Given the description of an element on the screen output the (x, y) to click on. 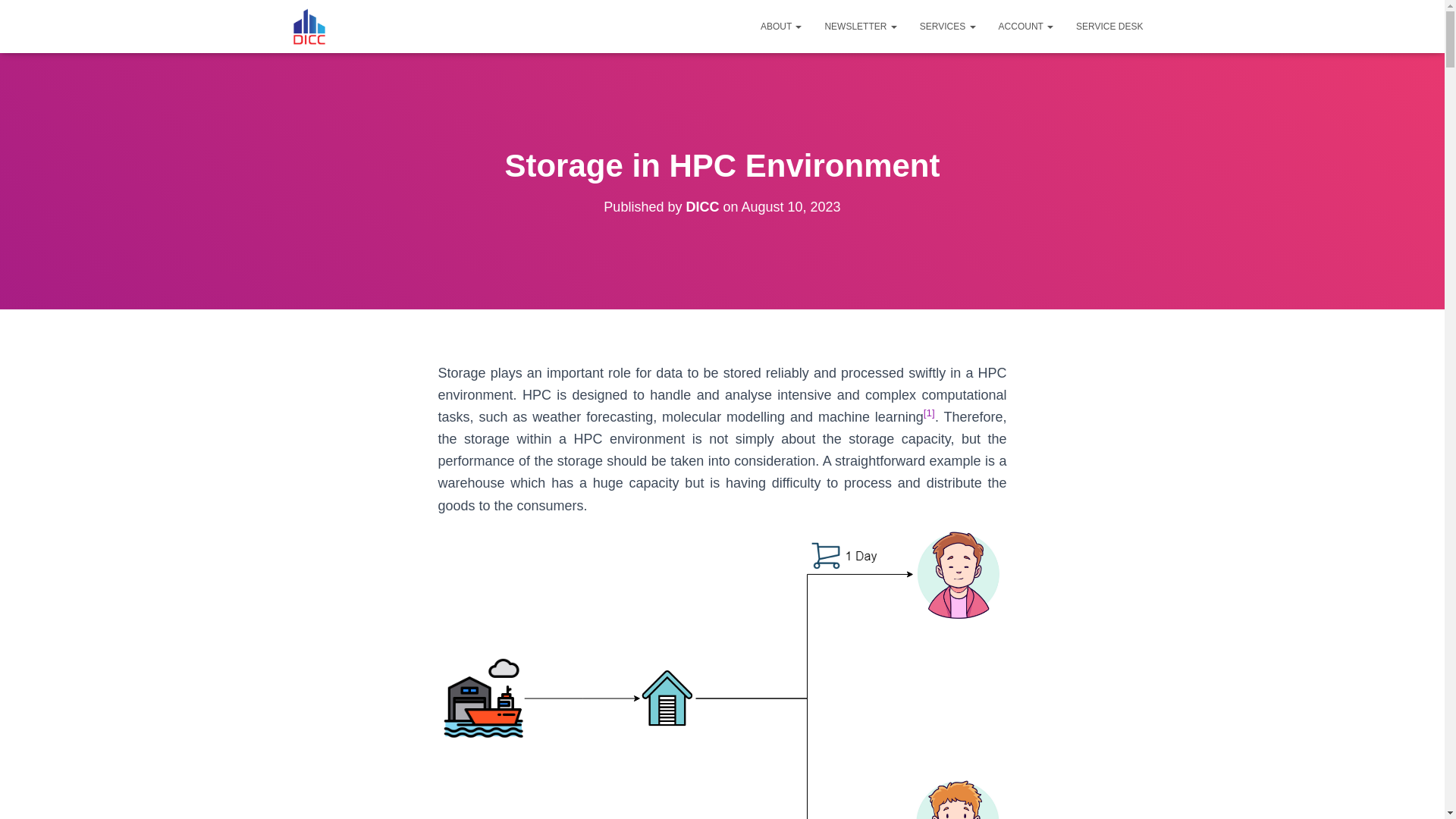
SERVICE DESK (1109, 26)
Services (947, 26)
NEWSLETTER (859, 26)
ACCOUNT (1025, 26)
ABOUT (780, 26)
About (780, 26)
DICC (702, 206)
Data-Intensive Computing Centre (309, 26)
SERVICES (947, 26)
Newsletter (859, 26)
